Given the description of an element on the screen output the (x, y) to click on. 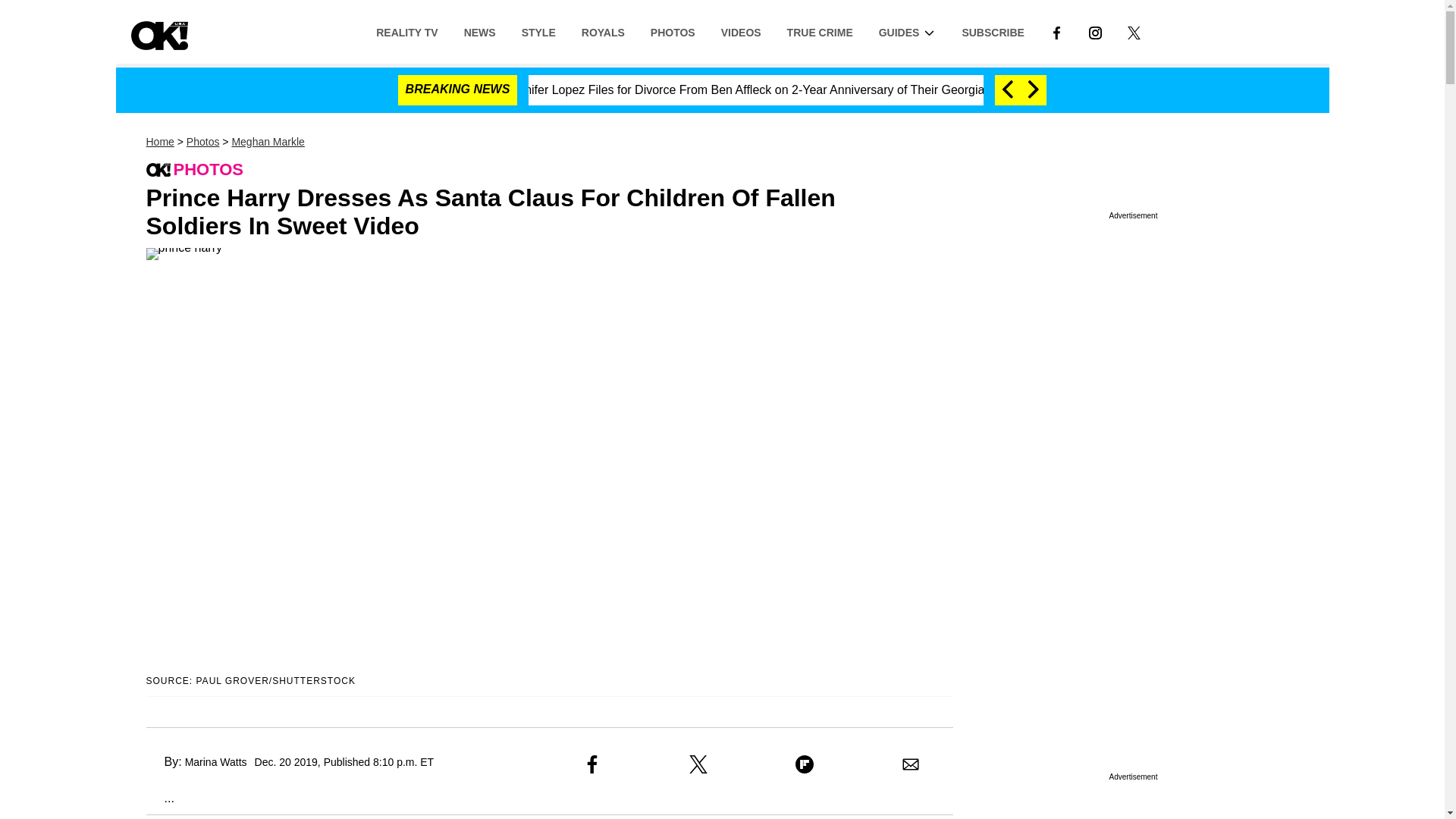
LINK TO INSTAGRAM (1095, 31)
STYLE (538, 31)
LINK TO INSTAGRAM (1095, 32)
LINK TO FACEBOOK (1055, 31)
NEWS (479, 31)
Share to Email (909, 764)
Meghan Markle (267, 141)
TRUE CRIME (820, 31)
LINK TO X (1133, 32)
Link to Instagram (1095, 31)
